Given the description of an element on the screen output the (x, y) to click on. 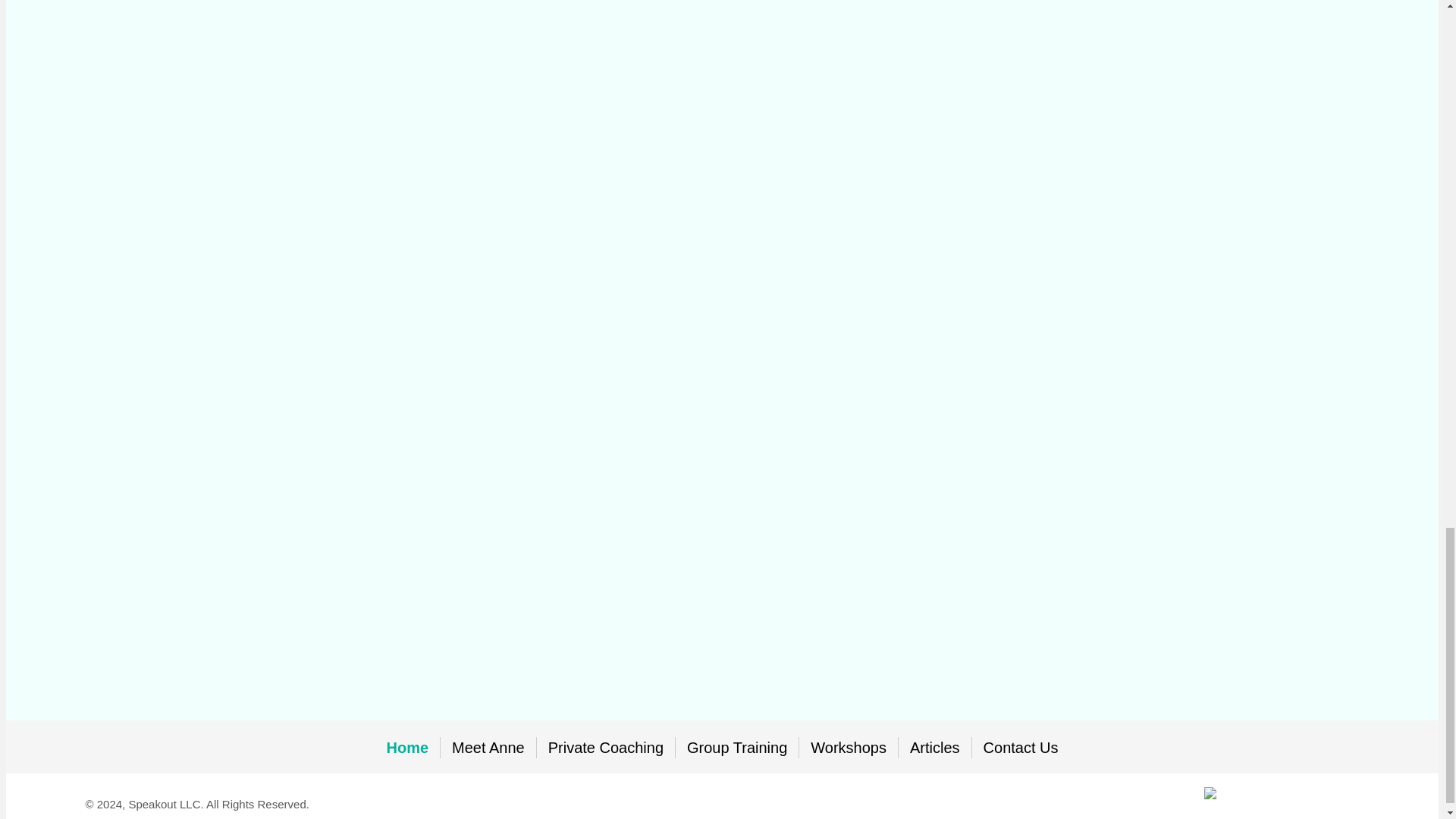
Home (406, 747)
Group Training (736, 747)
Contact Us (1021, 747)
Meet Anne (488, 747)
Articles (934, 747)
Workshops (848, 747)
Private Coaching (606, 747)
